Given the description of an element on the screen output the (x, y) to click on. 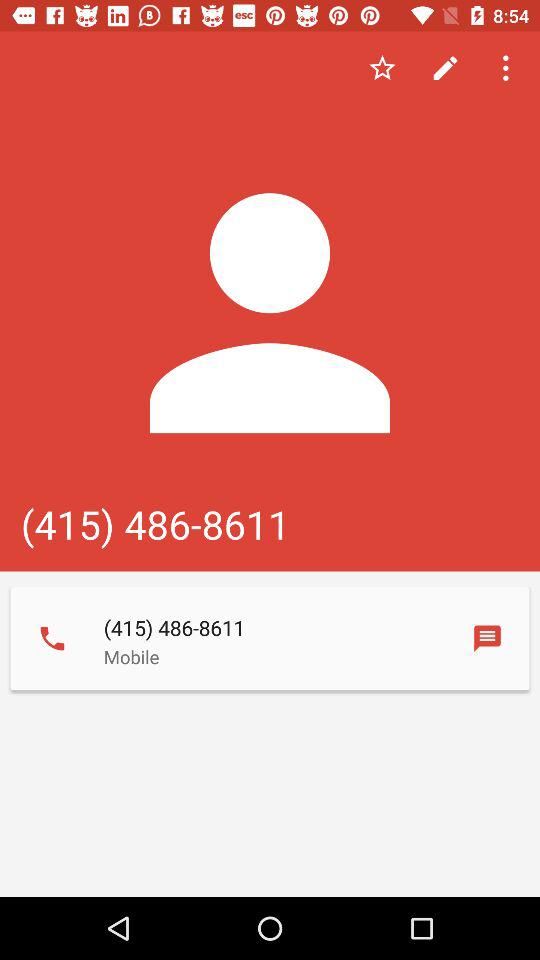
click menu icon (508, 68)
click favorites icon (382, 68)
click the phone icon (52, 638)
